Given the description of an element on the screen output the (x, y) to click on. 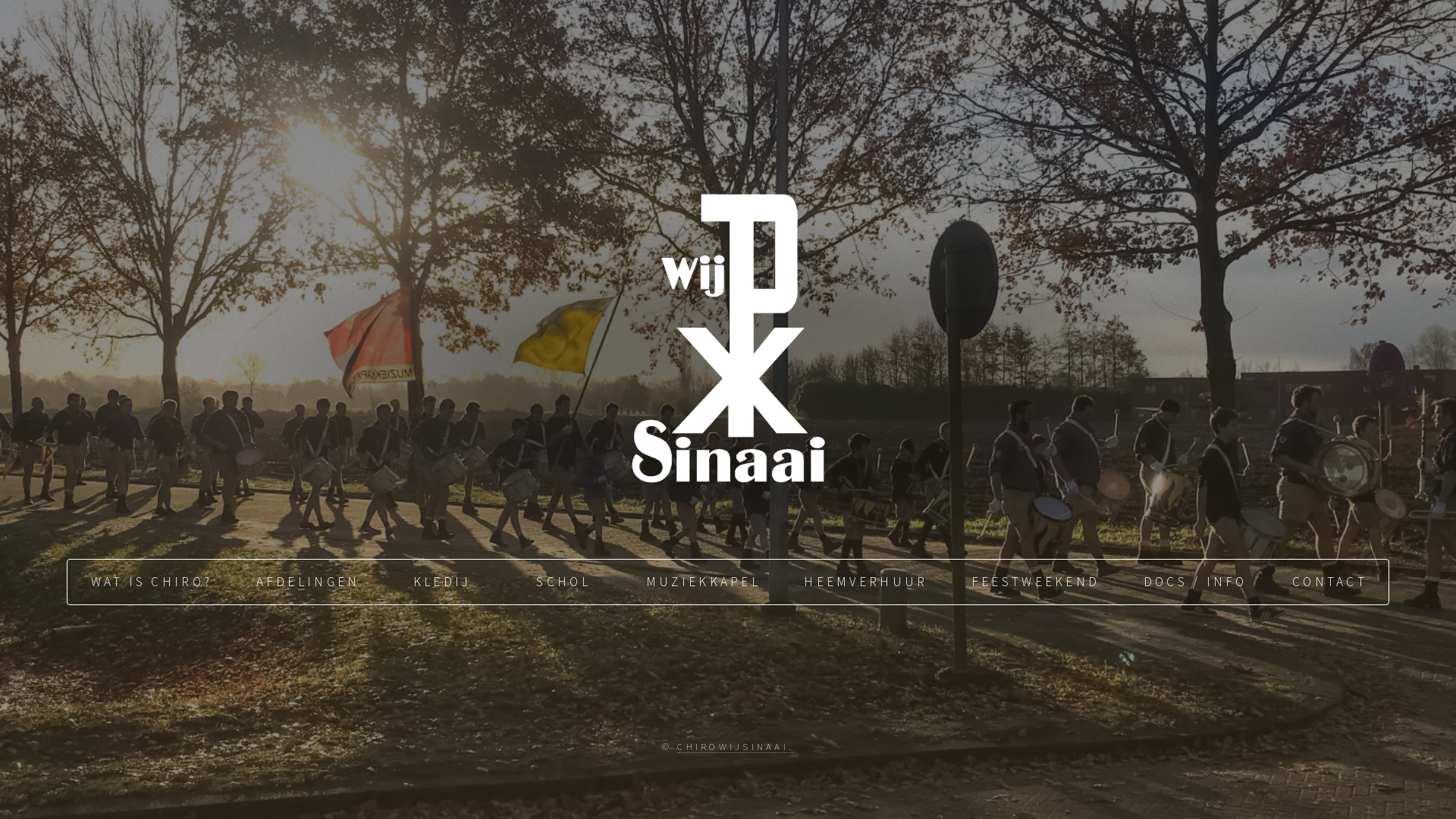
WAT IS CHIRO? Element type: text (149, 581)
FEESTWEEKEND Element type: text (1033, 581)
AFDELINGEN Element type: text (305, 581)
KLEDIJ Element type: text (440, 581)
MUZIEKKAPEL Element type: text (701, 581)
CONTACT Element type: text (1327, 581)
SCHOL Element type: text (561, 581)
DOCS / INFO Element type: text (1193, 581)
HEEMVERHUUR Element type: text (864, 581)
CHIROWIJSINAAI. Element type: text (735, 746)
